Given the description of an element on the screen output the (x, y) to click on. 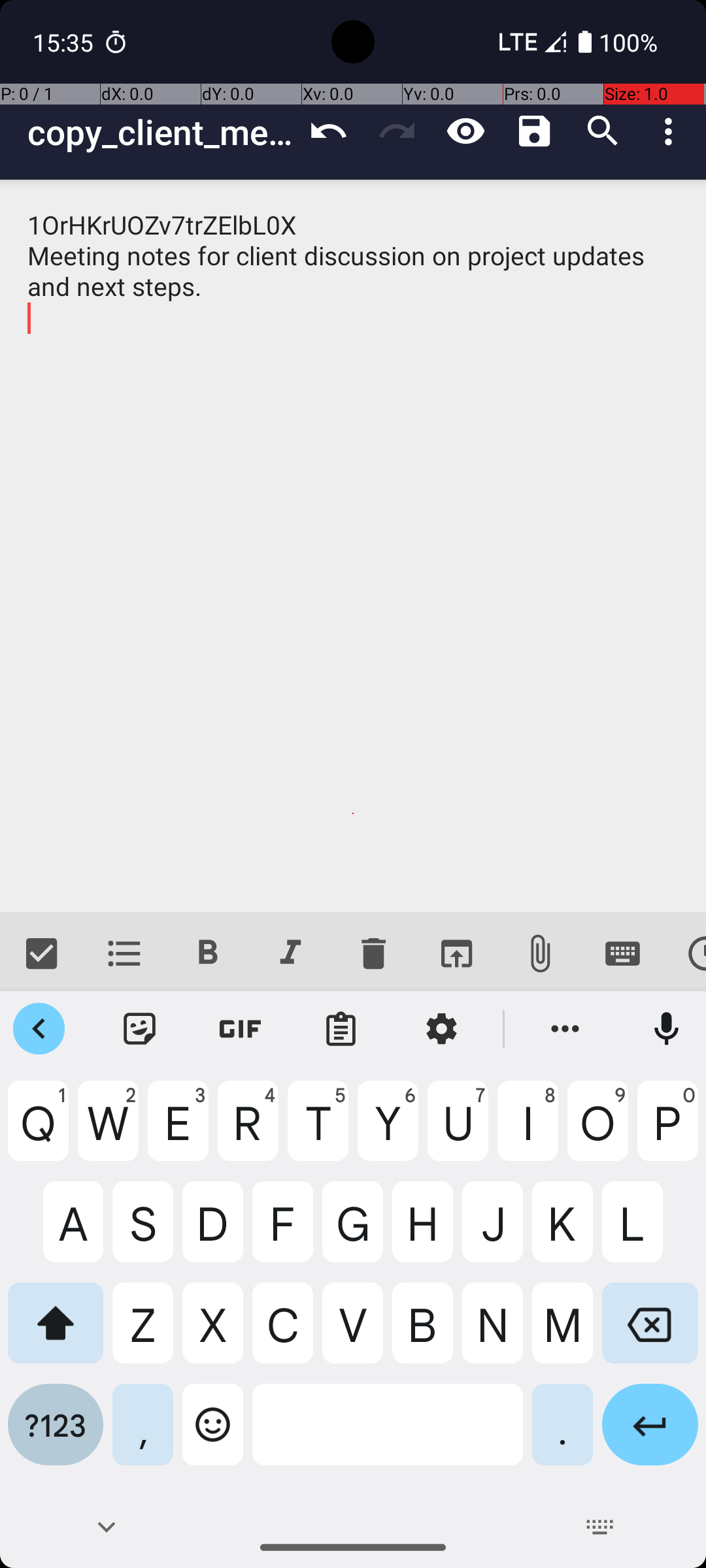
copy_client_meetings_schedule Element type: android.widget.TextView (160, 131)
1OrHKrUOZv7trZElbL0X
Meeting notes for client discussion on project updates and next steps.
 Element type: android.widget.EditText (353, 545)
